Given the description of an element on the screen output the (x, y) to click on. 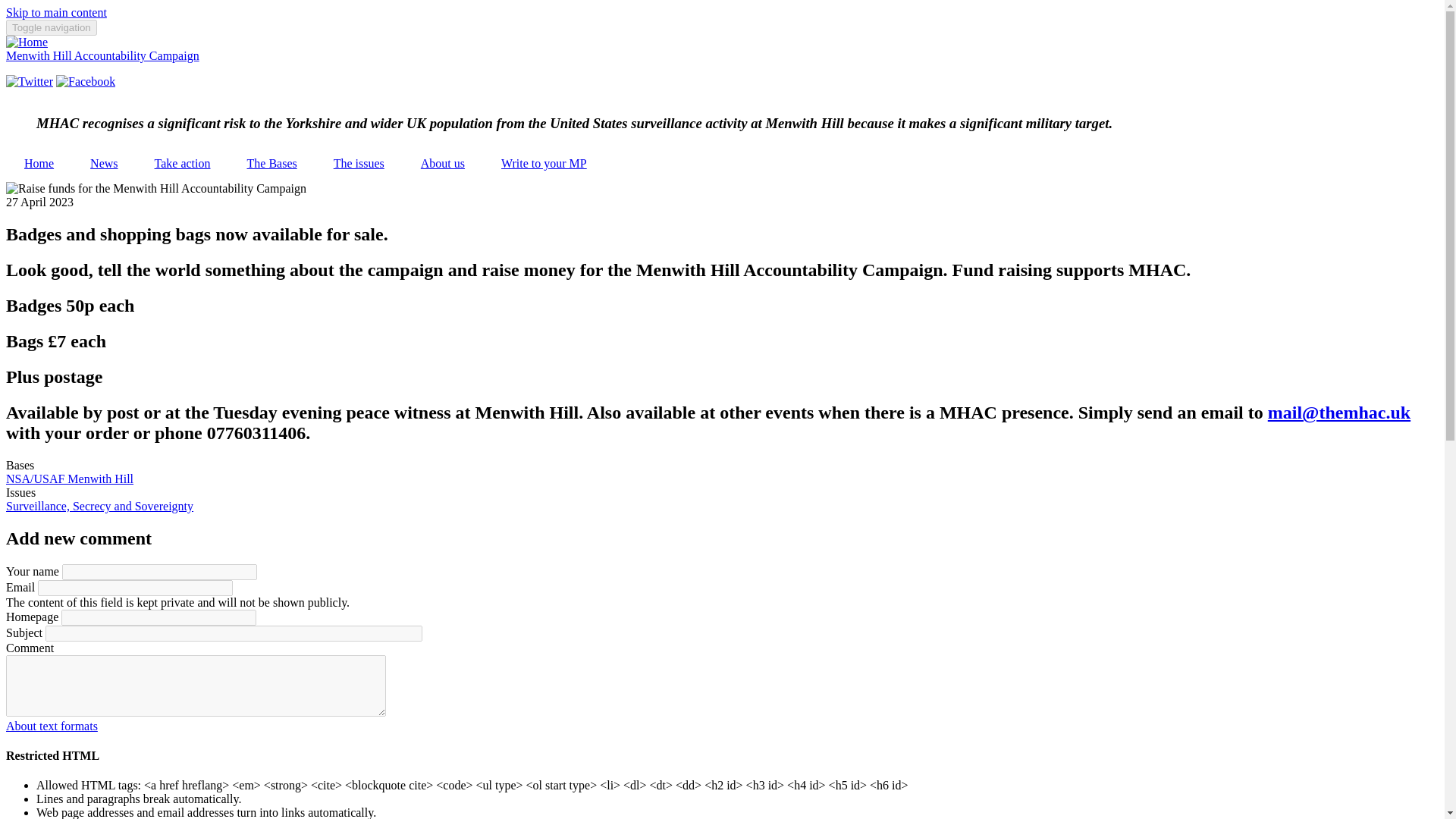
About us (443, 163)
News (103, 163)
Surveillance, Secrecy and Sovereignty (99, 505)
Skip to main content (55, 11)
The Bases (271, 163)
Take action (182, 163)
The issues (359, 163)
Home (38, 163)
Write to your MP (544, 163)
